Given the description of an element on the screen output the (x, y) to click on. 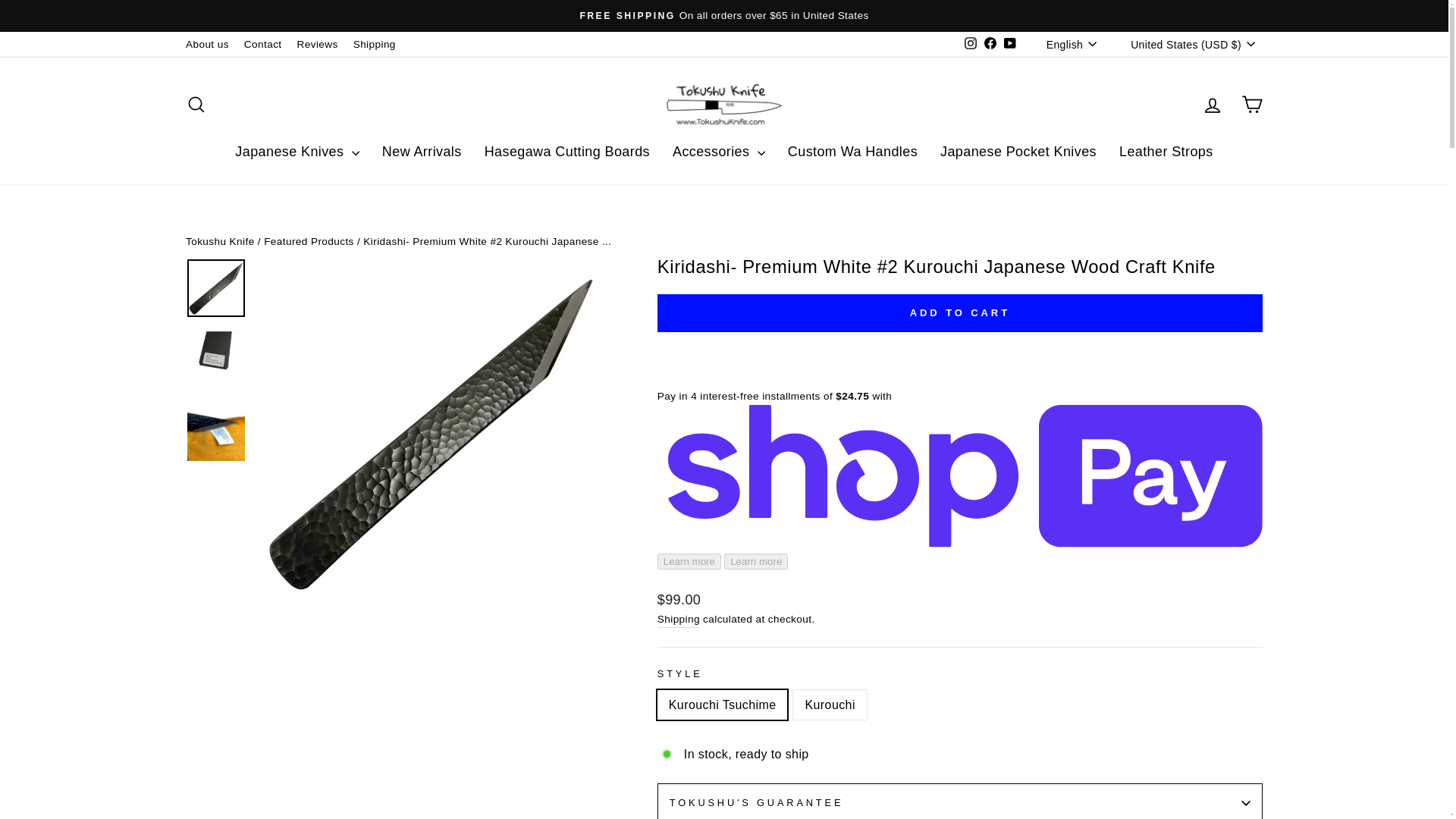
account (1212, 105)
icon-search (196, 104)
instagram (969, 42)
Back to the frontpage (220, 241)
